Given the description of an element on the screen output the (x, y) to click on. 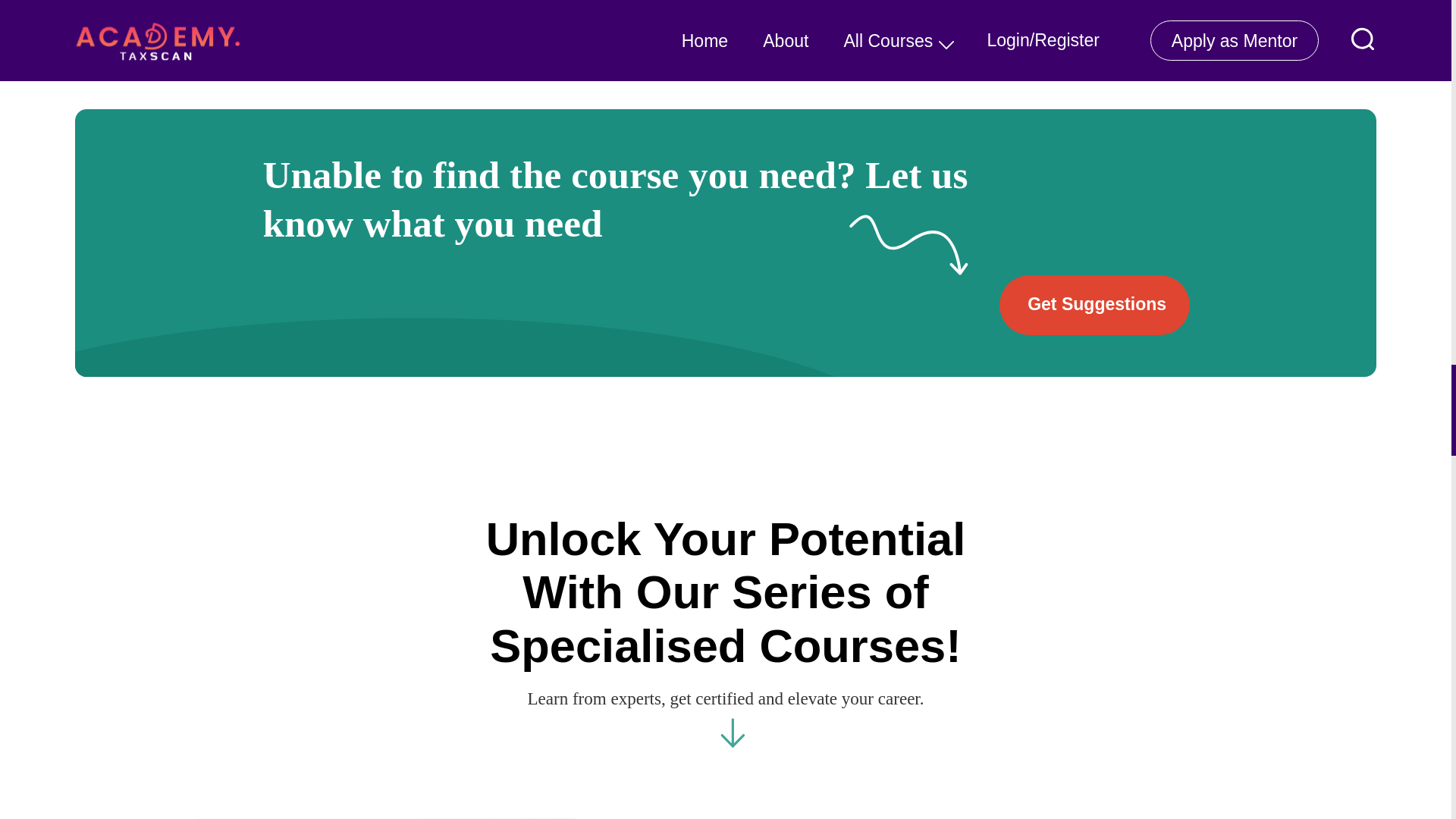
Get Suggestions (1093, 304)
